Given the description of an element on the screen output the (x, y) to click on. 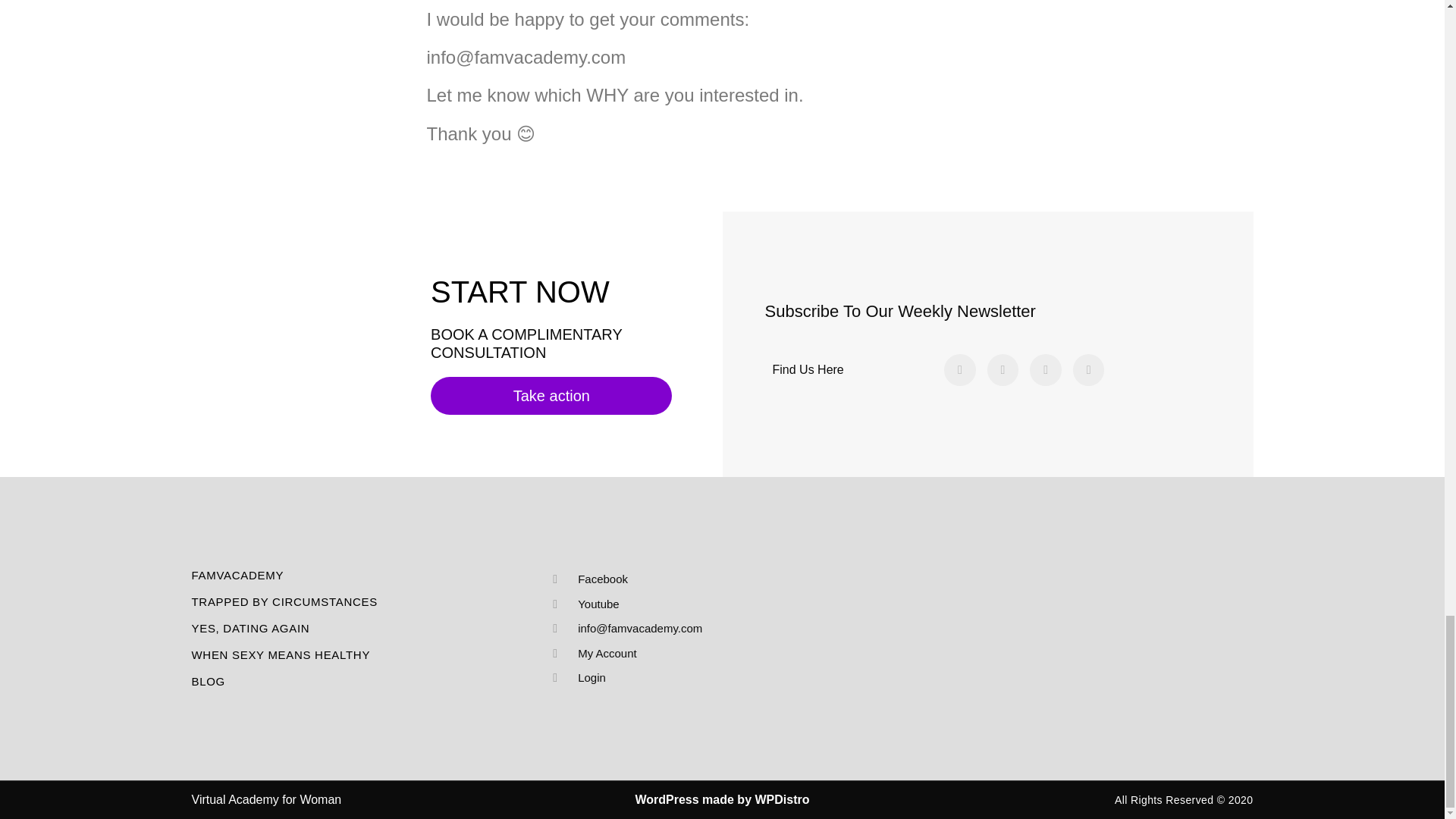
FAMVACADEMY (367, 575)
WordPress (666, 799)
My Account (715, 653)
Login (715, 678)
BLOG (367, 681)
Take action (550, 395)
TRAPPED BY CIRCUMSTANCES (367, 601)
Facebook (715, 579)
YES, DATING AGAIN (367, 628)
Youtube (715, 603)
WHEN SEXY MEANS HEALTHY (367, 654)
